Given the description of an element on the screen output the (x, y) to click on. 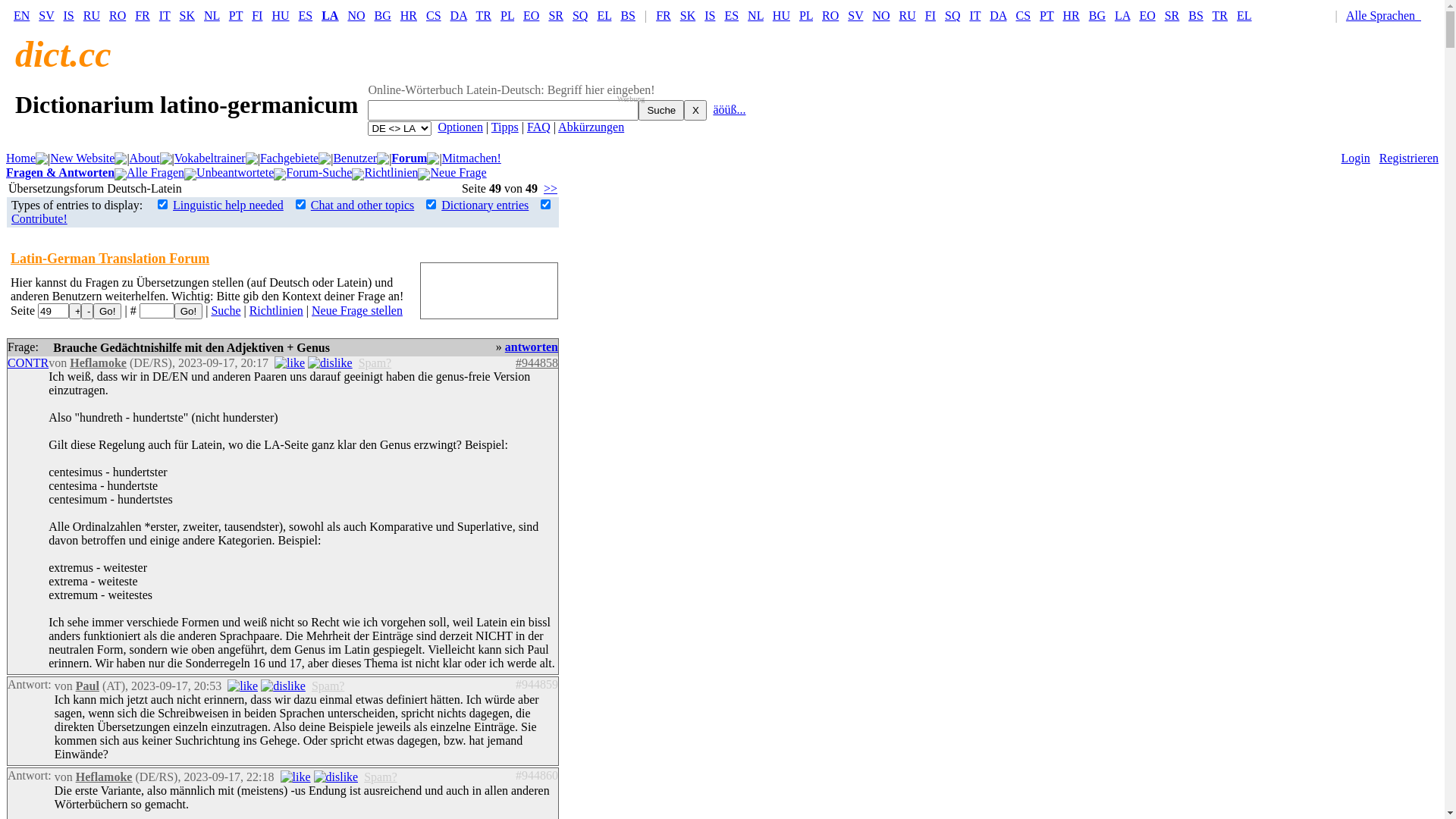
Neue Frage stellen Element type: text (356, 310)
Spam? Element type: text (375, 362)
Spam? Element type: text (380, 776)
Alle Fragen Element type: text (155, 172)
Chat and other topics Element type: text (362, 204)
LA Element type: text (1121, 15)
Forum Element type: text (408, 157)
X Element type: text (695, 110)
BG Element type: text (382, 15)
BS Element type: text (1195, 15)
Vokabeltrainer Element type: text (209, 157)
>> Element type: text (550, 188)
IT Element type: text (164, 15)
IS Element type: text (709, 15)
Fragen & Antworten Element type: text (60, 172)
SV Element type: text (854, 15)
NL Element type: text (755, 15)
PL Element type: text (805, 15)
Tipps Element type: text (504, 126)
Benutzer Element type: text (354, 157)
BS Element type: text (627, 15)
DA Element type: text (458, 15)
SK Element type: text (687, 15)
on Element type: text (162, 204)
TR Element type: text (1219, 15)
Heflamoke Element type: text (103, 776)
Home Element type: text (20, 157)
SR Element type: text (555, 15)
Go! Element type: text (188, 311)
NO Element type: text (355, 15)
Richtlinien Element type: text (390, 172)
Fachgebiete Element type: text (289, 157)
IT Element type: text (974, 15)
on Element type: text (300, 204)
Suche Element type: text (225, 310)
PT Element type: text (1046, 15)
PT Element type: text (235, 15)
FR Element type: text (663, 15)
HU Element type: text (781, 15)
Dictionary entries Element type: text (484, 204)
LA Element type: text (329, 15)
Neue Frage Element type: text (457, 172)
RO Element type: text (117, 15)
SV Element type: text (45, 15)
EL Element type: text (1244, 15)
FI Element type: text (256, 15)
Mitmachen! Element type: text (471, 157)
FR Element type: text (142, 15)
RU Element type: text (907, 15)
ES Element type: text (305, 15)
RO Element type: text (830, 15)
About Element type: text (144, 157)
EO Element type: text (1146, 15)
Forum-Suche Element type: text (318, 172)
FAQ Element type: text (538, 126)
TR Element type: text (483, 15)
HR Element type: text (408, 15)
on Element type: text (545, 204)
#944858 Element type: text (536, 362)
BG Element type: text (1096, 15)
Richtlinien Element type: text (276, 310)
CS Element type: text (433, 15)
SQ Element type: text (952, 15)
FI Element type: text (930, 15)
Alle Sprachen  Element type: text (1386, 15)
IS Element type: text (68, 15)
Latin-German Translation Forum Element type: text (109, 258)
antworten Element type: text (531, 346)
HR Element type: text (1070, 15)
Unbeantwortete Element type: text (234, 172)
#944860 Element type: text (536, 774)
RU Element type: text (91, 15)
PL Element type: text (507, 15)
SK Element type: text (186, 15)
Contribute! Element type: text (39, 218)
Spam? Element type: text (328, 685)
#944859 Element type: text (536, 683)
EN Element type: text (21, 15)
Heflamoke Element type: text (97, 362)
NO Element type: text (880, 15)
CS Element type: text (1023, 15)
Go! Element type: text (107, 311)
SR Element type: text (1171, 15)
Registrieren Element type: text (1408, 157)
NL Element type: text (211, 15)
ES Element type: text (731, 15)
Linguistic help needed Element type: text (227, 204)
Optionen Element type: text (460, 126)
SQ Element type: text (579, 15)
HU Element type: text (279, 15)
Suche Element type: text (661, 110)
New Website Element type: text (82, 157)
Login Element type: text (1355, 157)
dict.cc Element type: text (63, 54)
EL Element type: text (603, 15)
DA Element type: text (997, 15)
EO Element type: text (531, 15)
on Element type: text (431, 204)
CONTR Element type: text (27, 362)
Paul Element type: text (87, 685)
